Given the description of an element on the screen output the (x, y) to click on. 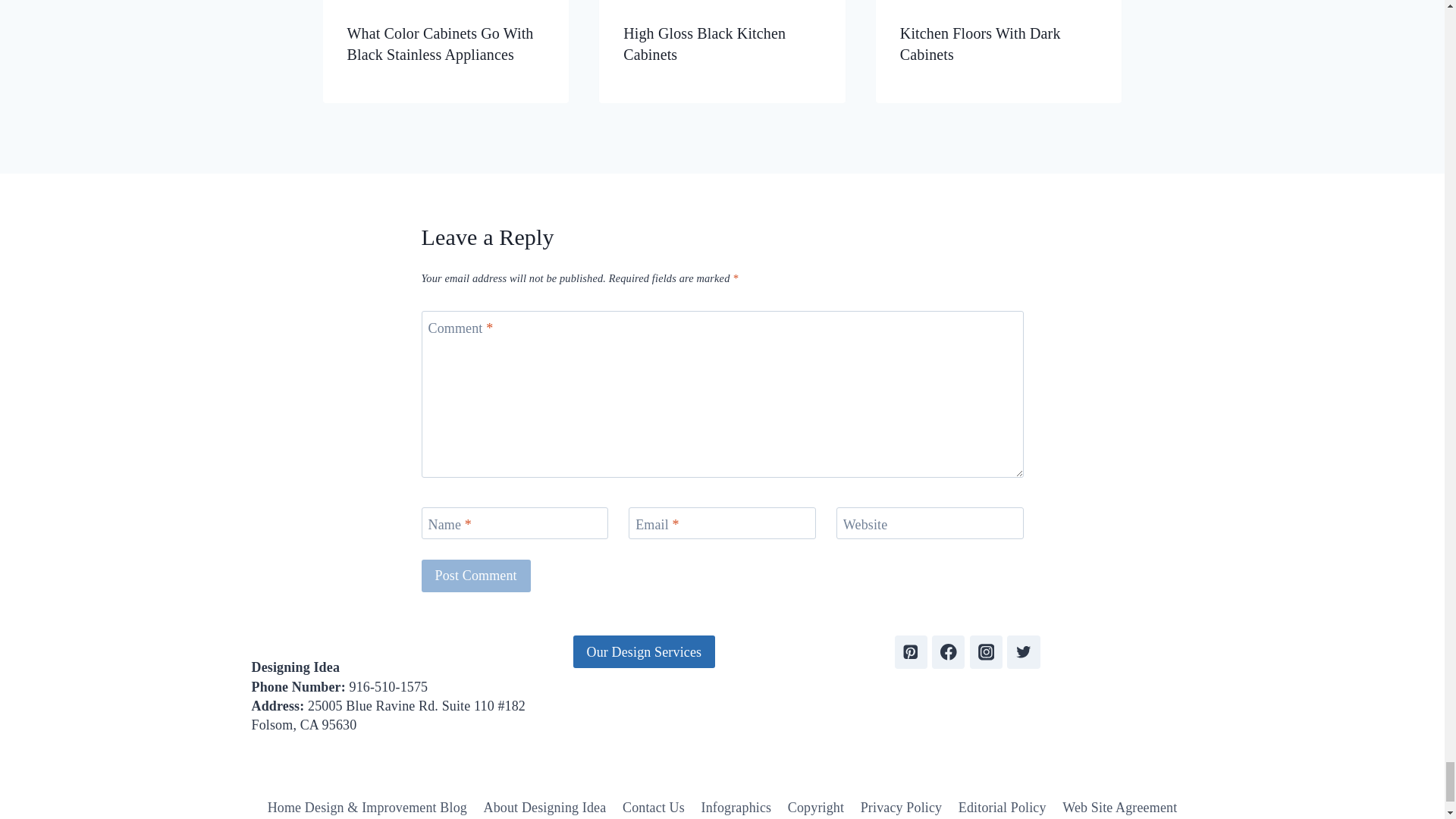
Post Comment (476, 575)
